Given the description of an element on the screen output the (x, y) to click on. 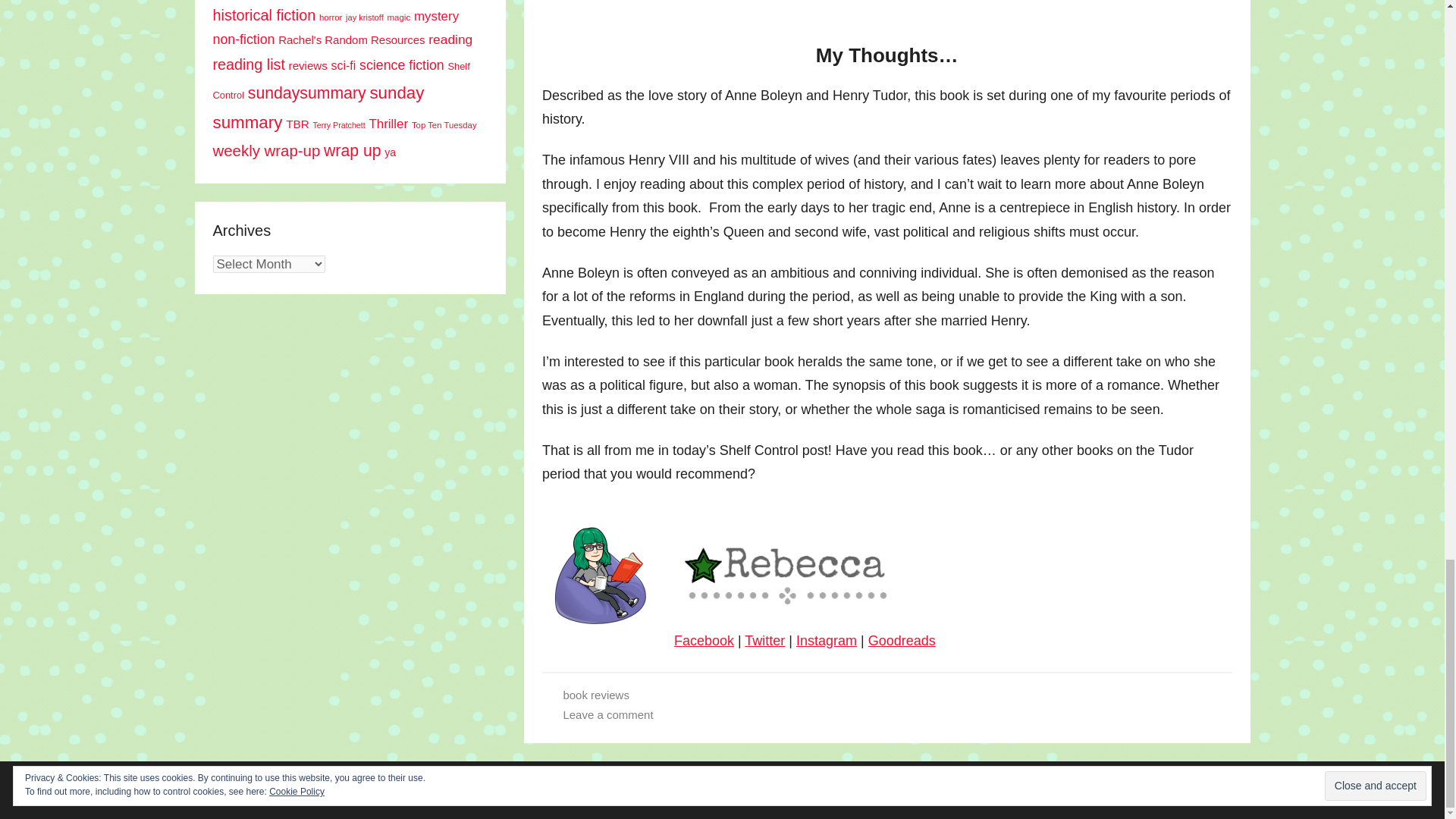
Twitter (764, 640)
book reviews (595, 694)
Goodreads (901, 640)
Instagram (826, 640)
Facebook (703, 640)
Leave a comment (607, 714)
